Given the description of an element on the screen output the (x, y) to click on. 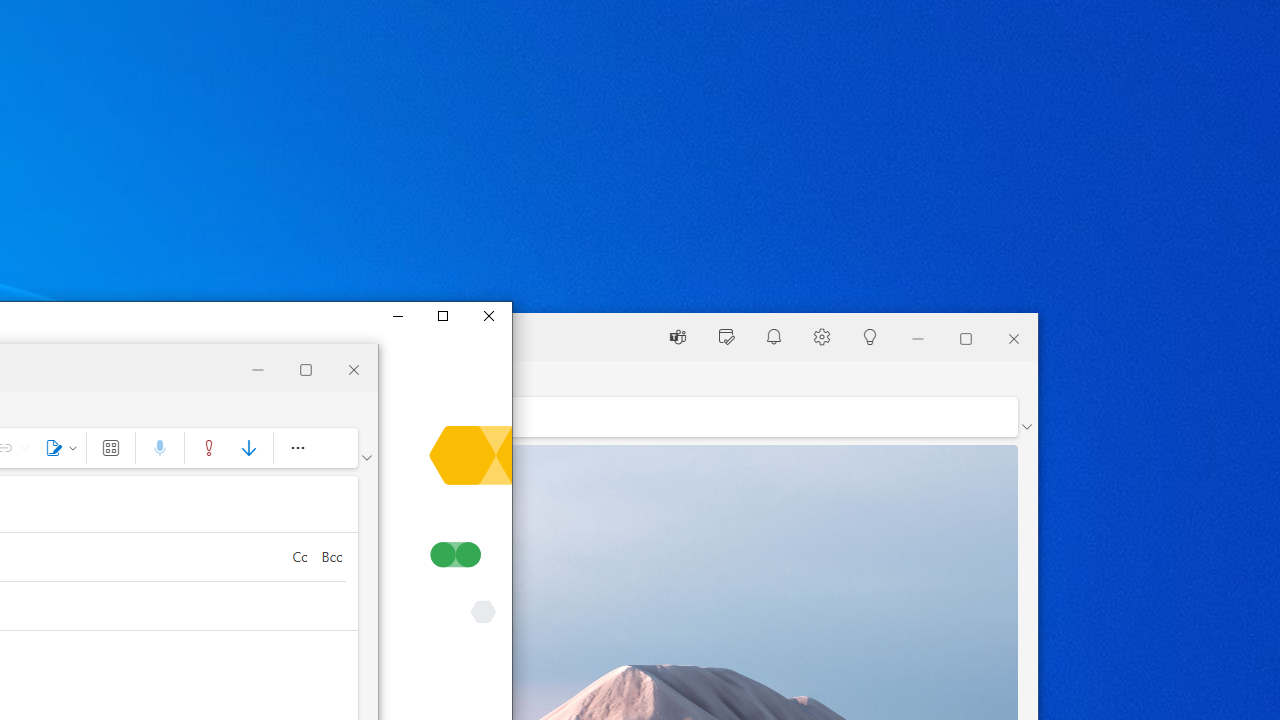
Maximize (442, 316)
